Given the description of an element on the screen output the (x, y) to click on. 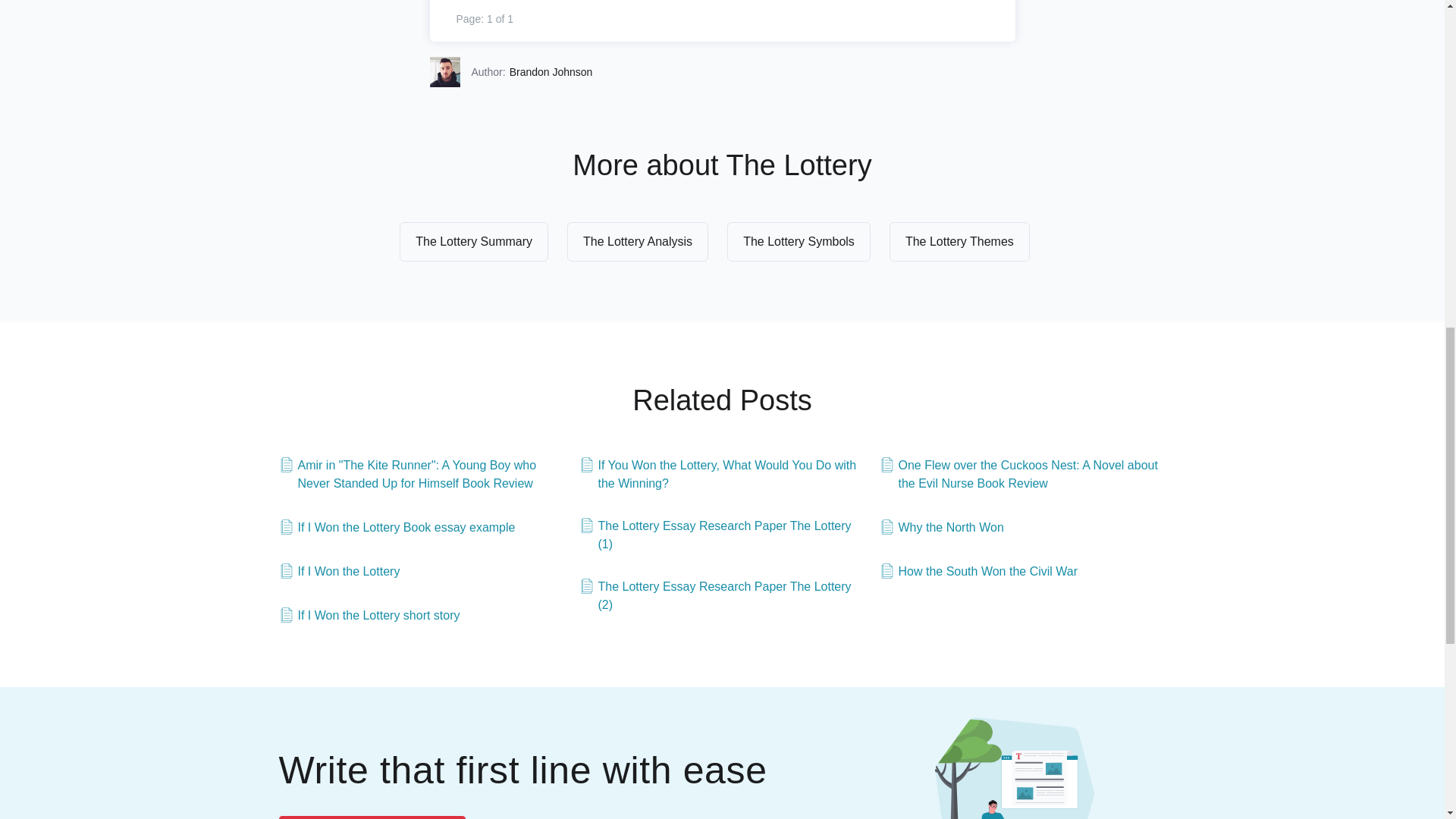
If I Won the Lottery Book essay example (397, 527)
Why the North Won (941, 527)
The Lottery Symbols (798, 241)
The Lottery Themes (959, 241)
If You Won the Lottery, What Would You Do with the Winning? (722, 474)
If I Won the Lottery short story (369, 615)
How the South Won the Civil War (978, 571)
If I Won the Lottery (339, 571)
The Lottery Summary (473, 241)
The Lottery Analysis (637, 241)
